Given the description of an element on the screen output the (x, y) to click on. 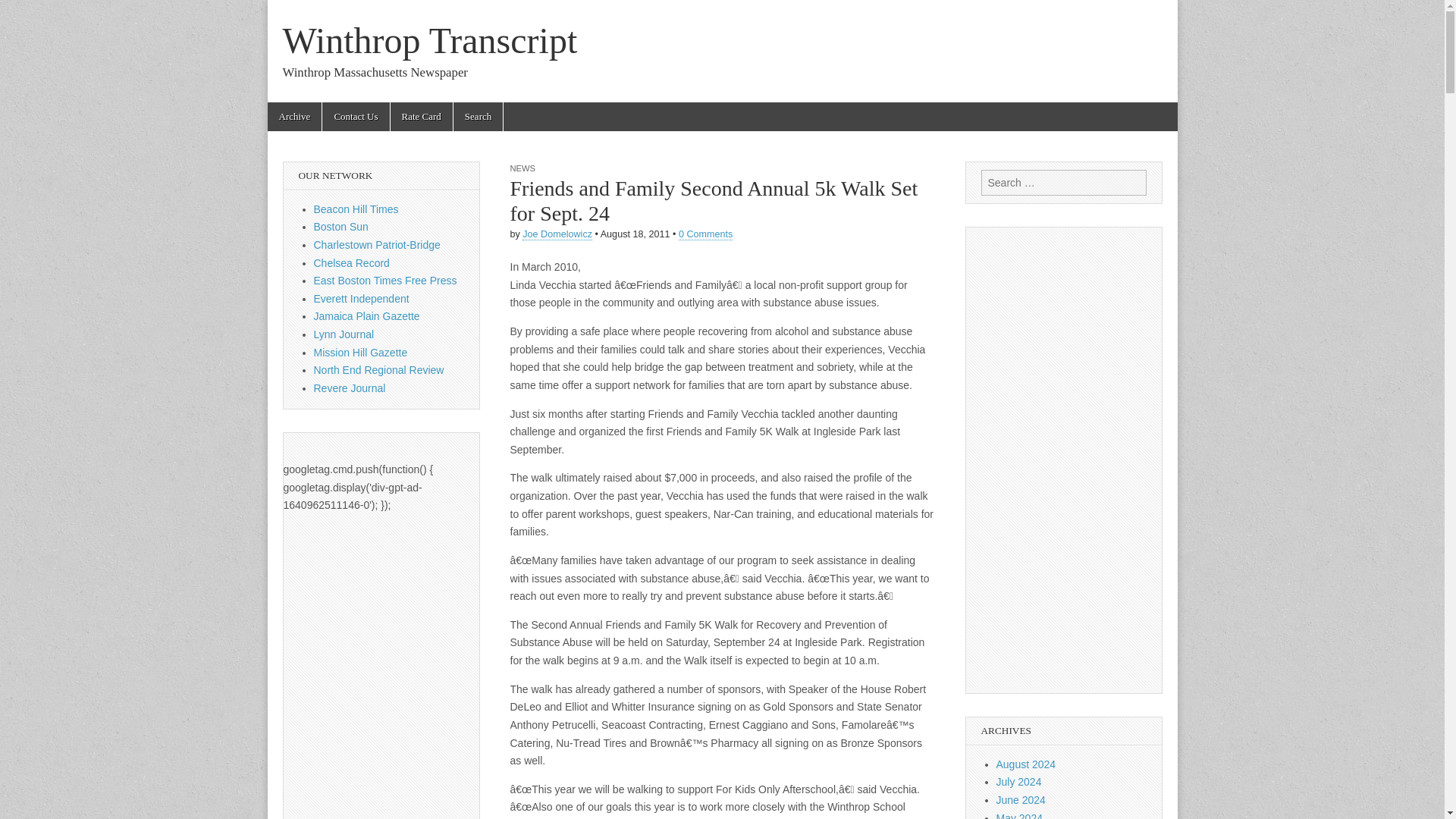
Boston Sun (341, 226)
East Boston Times Free Press (385, 280)
Charlestown Patriot-Bridge (377, 244)
0 Comments (705, 234)
Search (23, 12)
Rate Card (421, 116)
Beacon Hill Times (356, 209)
Posts by Joe Domelowicz (557, 234)
